Given the description of an element on the screen output the (x, y) to click on. 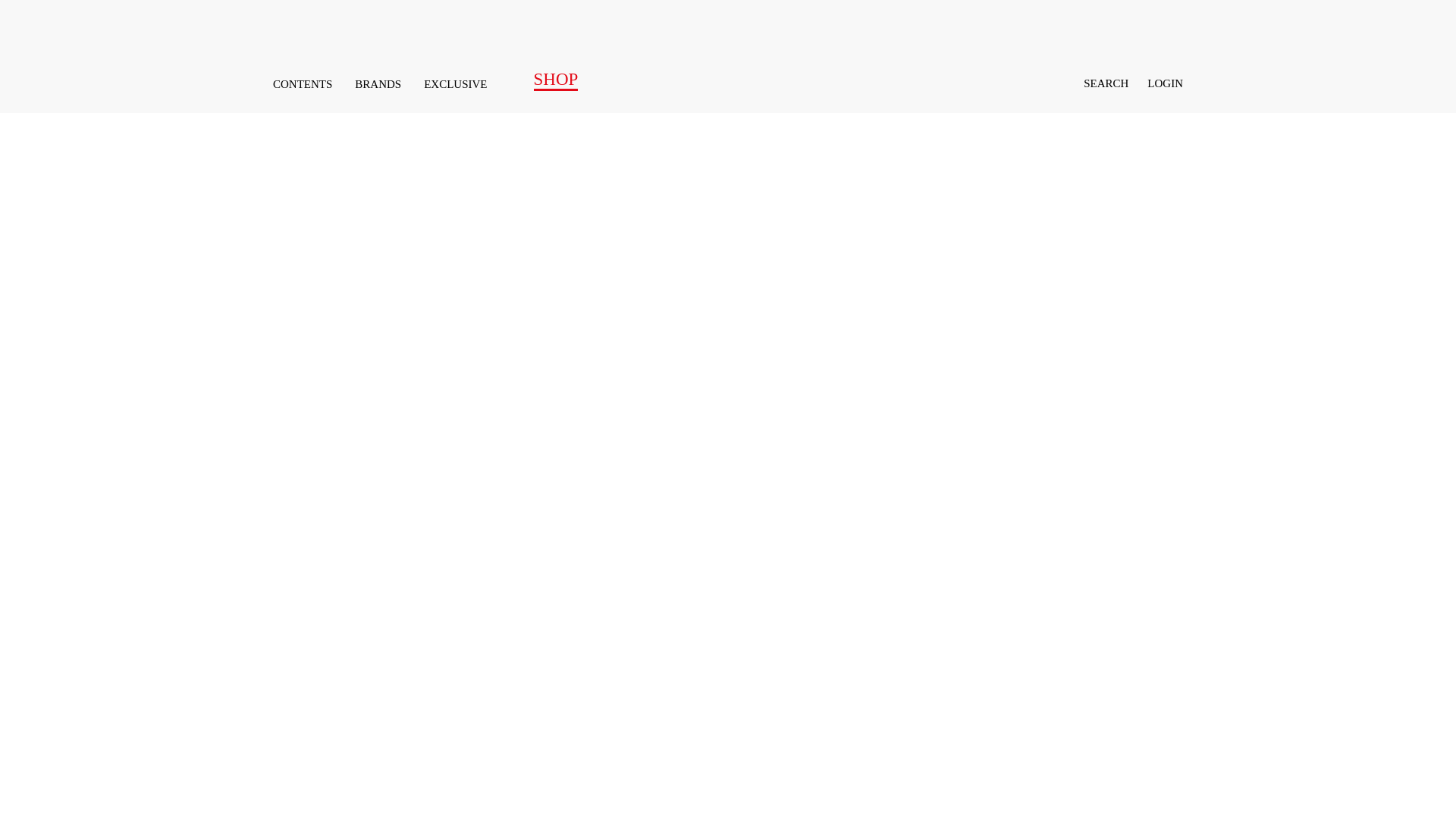
CONTENTS (302, 83)
SHOP (544, 78)
EXCLUSIVE (454, 83)
BRANDS (378, 83)
SEARCH (1096, 84)
LOGIN (1164, 83)
